Given the description of an element on the screen output the (x, y) to click on. 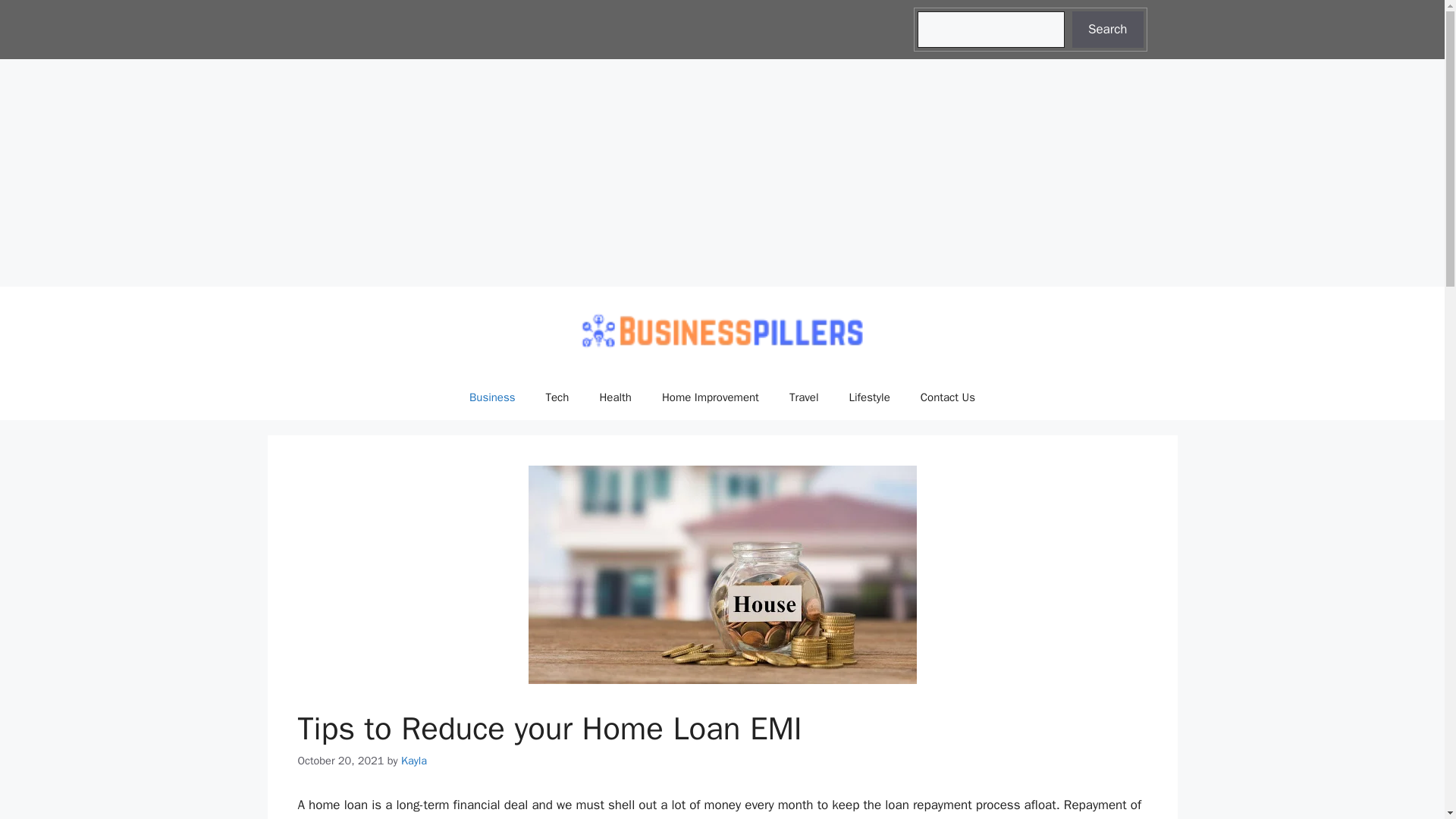
Home Improvement (710, 397)
View all posts by Kayla (413, 760)
Travel (804, 397)
Tech (558, 397)
Contact Us (947, 397)
Kayla (413, 760)
Lifestyle (869, 397)
Health (614, 397)
Business (492, 397)
